Given the description of an element on the screen output the (x, y) to click on. 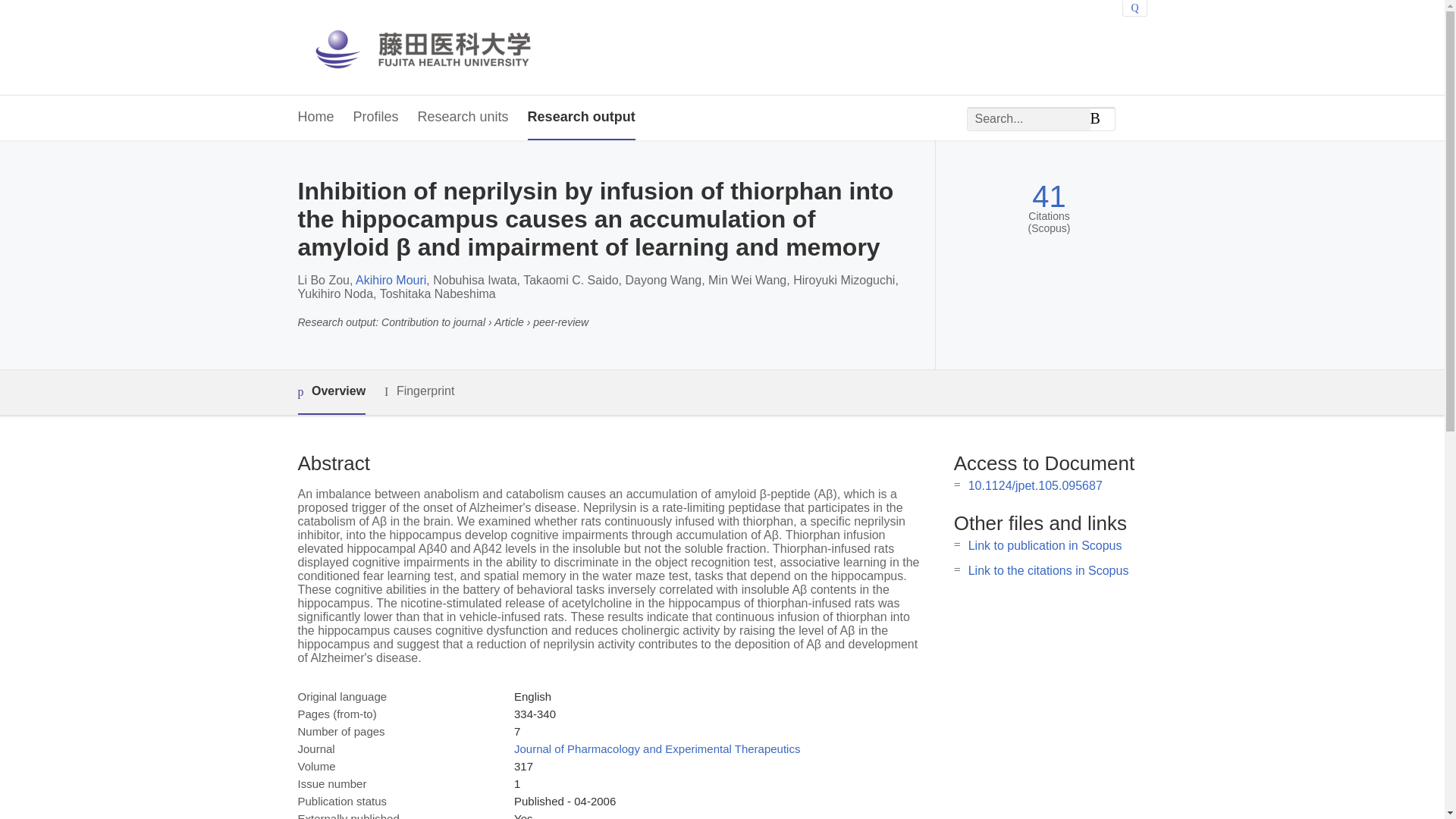
Link to publication in Scopus (1045, 545)
Link to the citations in Scopus (1048, 570)
Akihiro Mouri (390, 279)
Research output (580, 117)
Profiles (375, 117)
Fingerprint (419, 391)
Overview (331, 392)
41 (1048, 196)
Fujita Health University Home (437, 47)
Journal of Pharmacology and Experimental Therapeutics (656, 748)
Research units (462, 117)
